Given the description of an element on the screen output the (x, y) to click on. 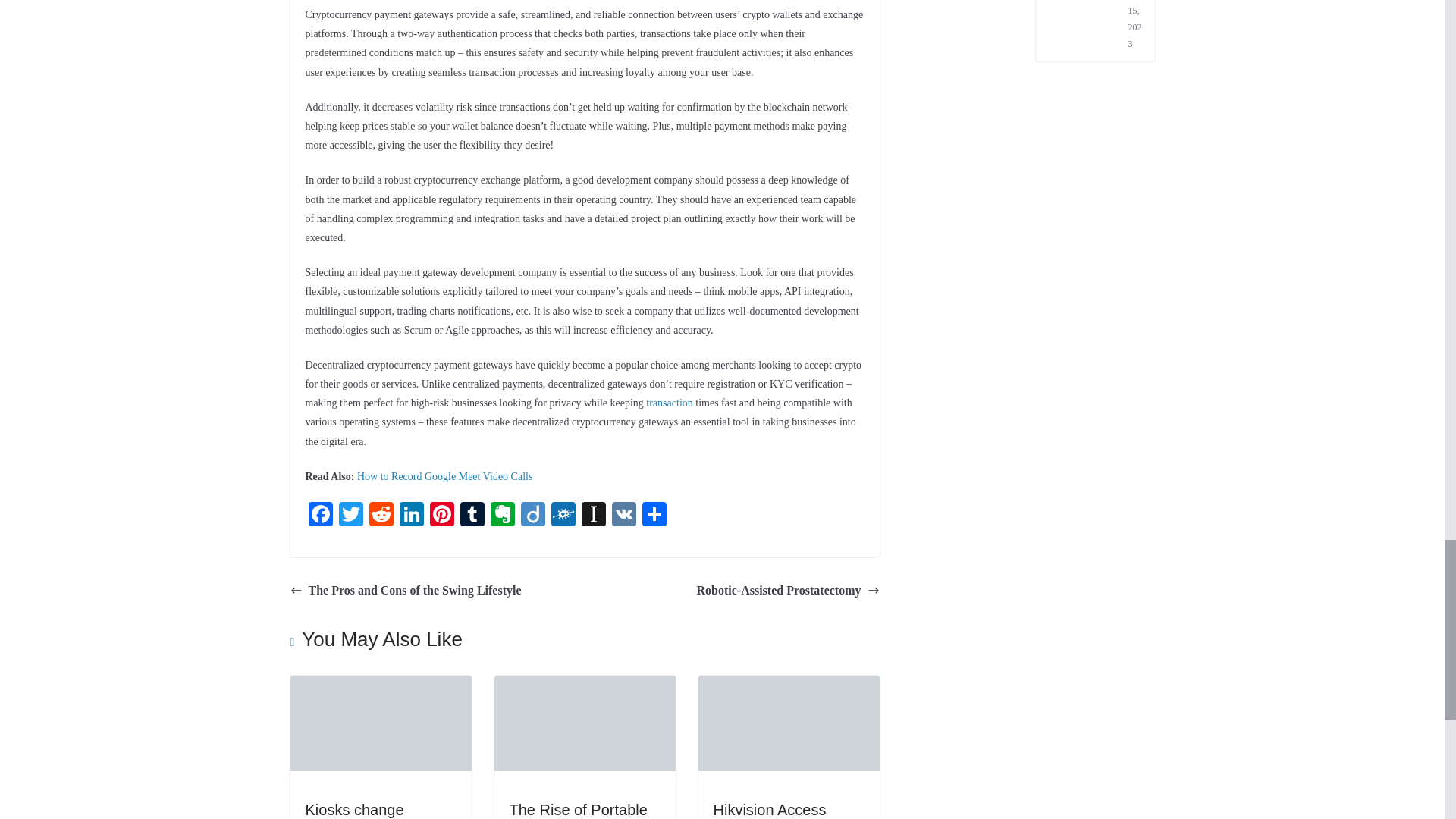
LinkedIn (411, 515)
Reddit (380, 515)
How to Record Google Meet Video Calls (444, 476)
Facebook (319, 515)
Pinterest (441, 515)
Twitter (349, 515)
